Given the description of an element on the screen output the (x, y) to click on. 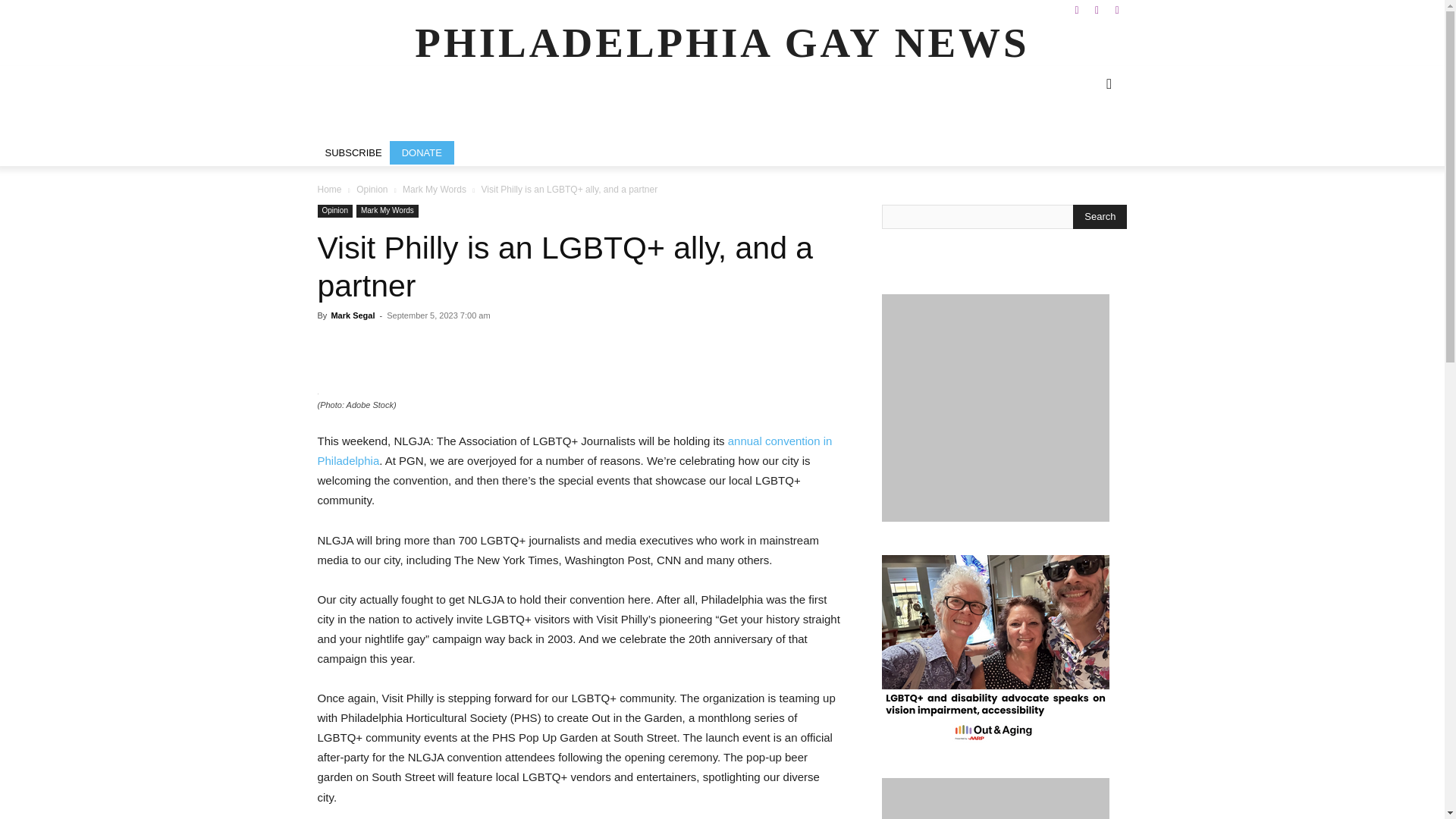
View all posts in Mark My Words (434, 189)
Twitter (1116, 10)
Facebook (1077, 10)
View all posts in Opinion (371, 189)
Instagram (1096, 10)
DONATE (422, 152)
Search (1099, 216)
SUBSCRIBE (352, 152)
